Given the description of an element on the screen output the (x, y) to click on. 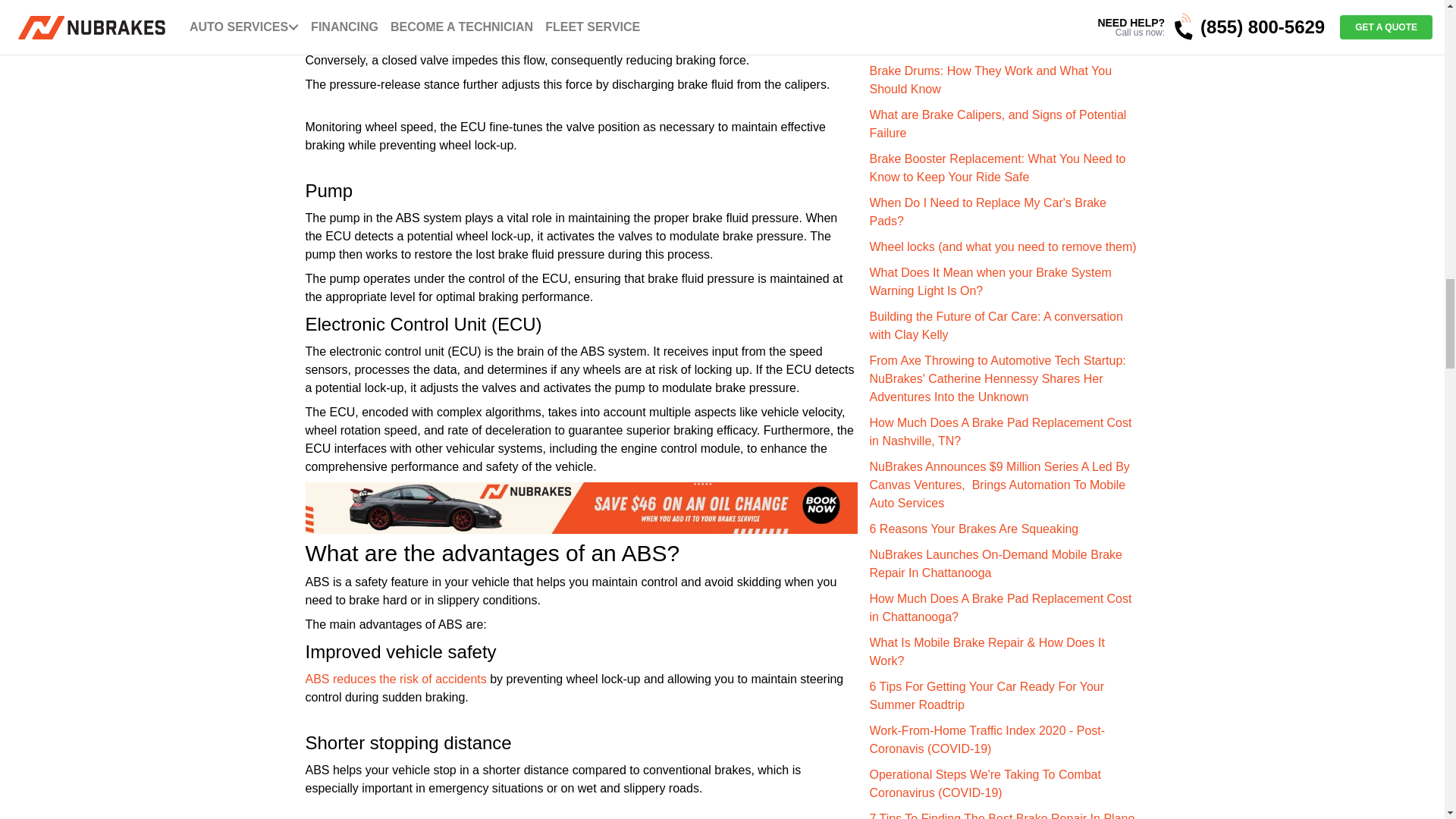
ABS reduces the risk of accidents (396, 678)
